Given the description of an element on the screen output the (x, y) to click on. 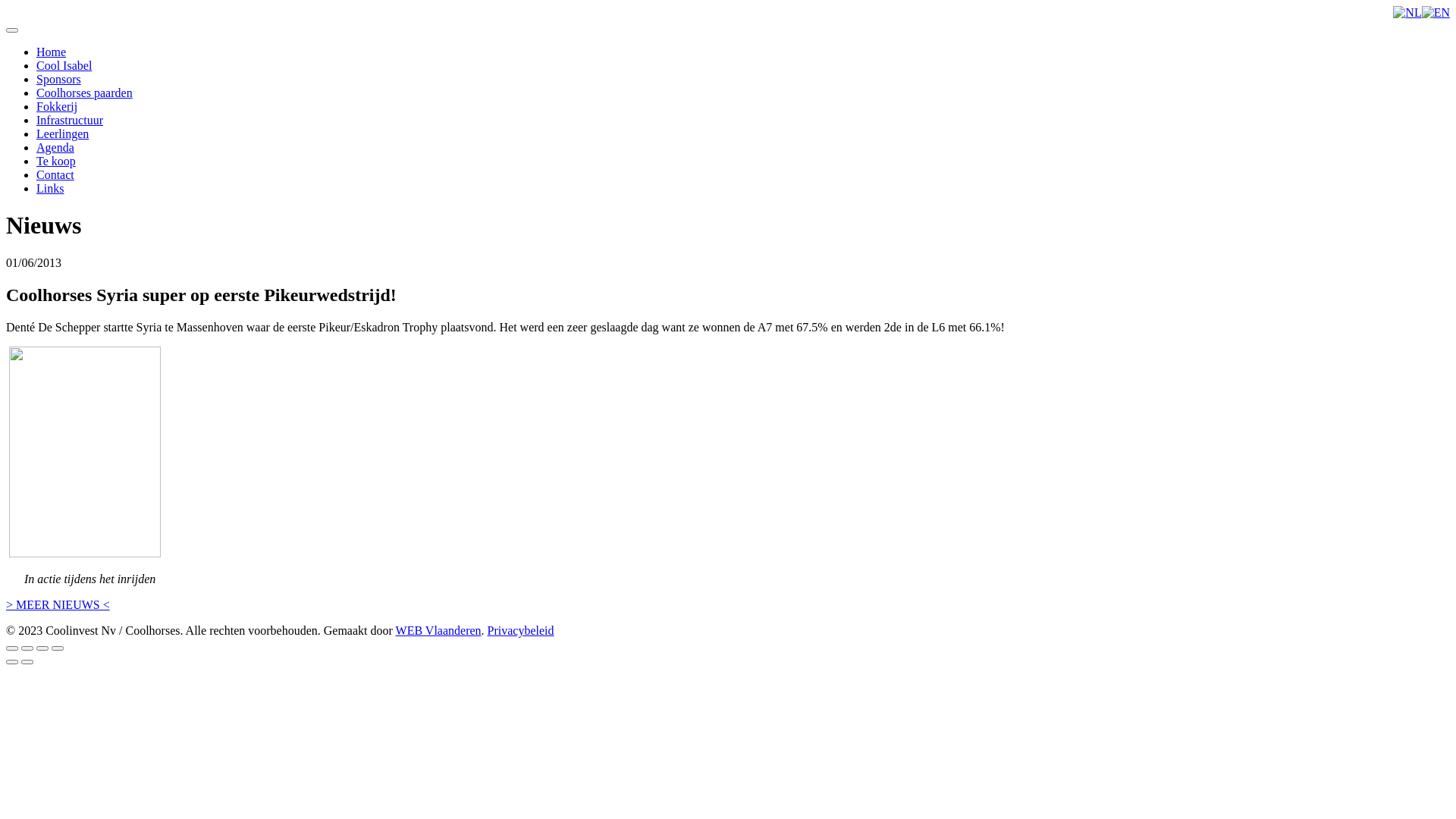
Cool Isabel Element type: text (63, 65)
> MEER NIEUWS < Element type: text (57, 604)
Privacybeleid Element type: text (520, 630)
Toggle fullscreen Element type: hover (42, 648)
Fokkerij Element type: text (56, 106)
Next (arrow right) Element type: hover (27, 661)
Contact Element type: text (55, 174)
Zoom in/out Element type: hover (57, 648)
Previous (arrow left) Element type: hover (12, 661)
Agenda Element type: text (55, 147)
Te koop Element type: text (55, 160)
Links Element type: text (49, 188)
Coolhorses paarden Element type: text (84, 92)
Infrastructuur Element type: text (69, 119)
Share Element type: hover (27, 648)
Leerlingen Element type: text (62, 133)
Home Element type: text (50, 51)
Close (Esc) Element type: hover (12, 648)
Sponsors Element type: text (58, 78)
WEB Vlaanderen Element type: text (438, 630)
